Given the description of an element on the screen output the (x, y) to click on. 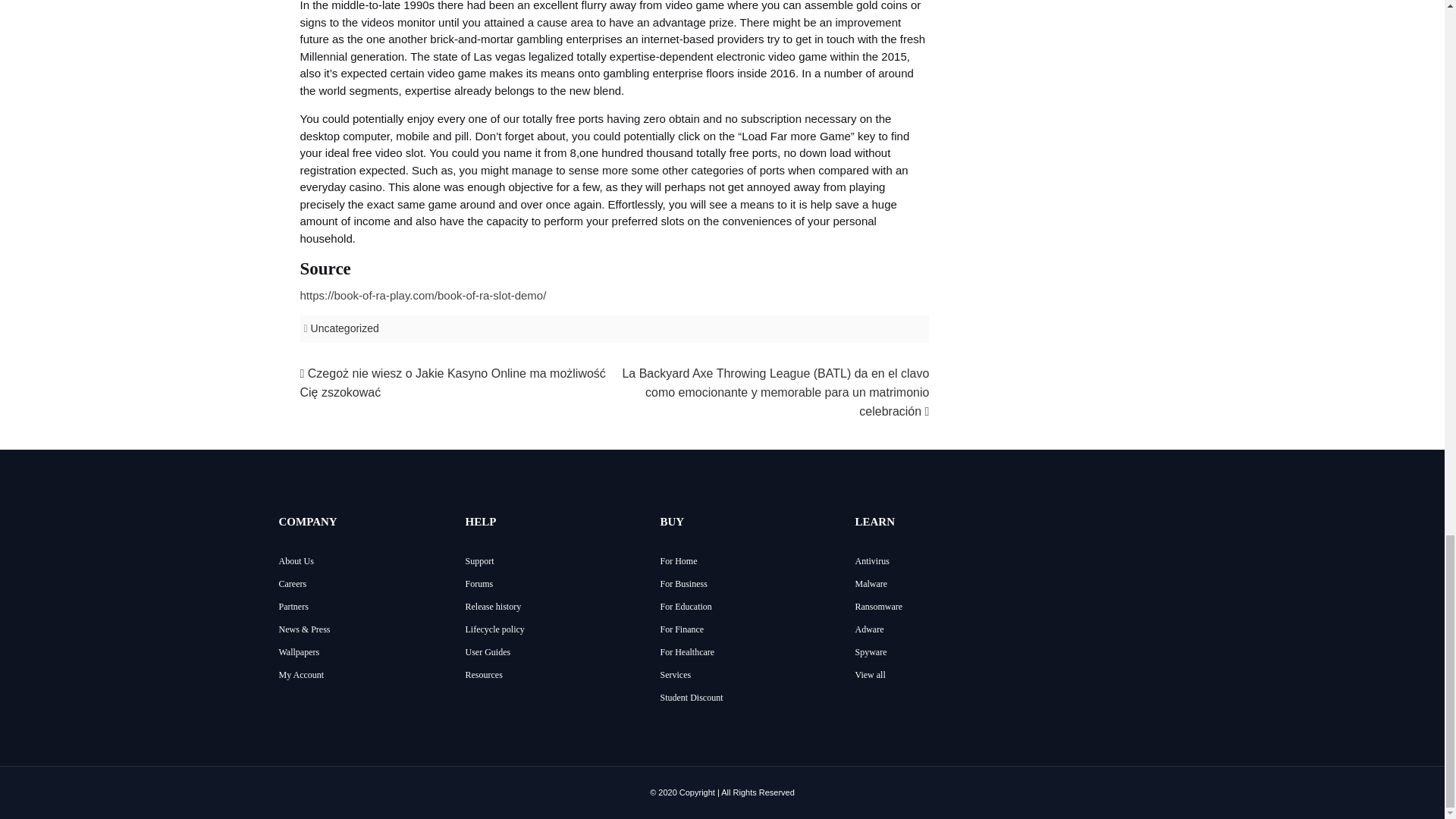
Uncategorized (344, 328)
